Given the description of an element on the screen output the (x, y) to click on. 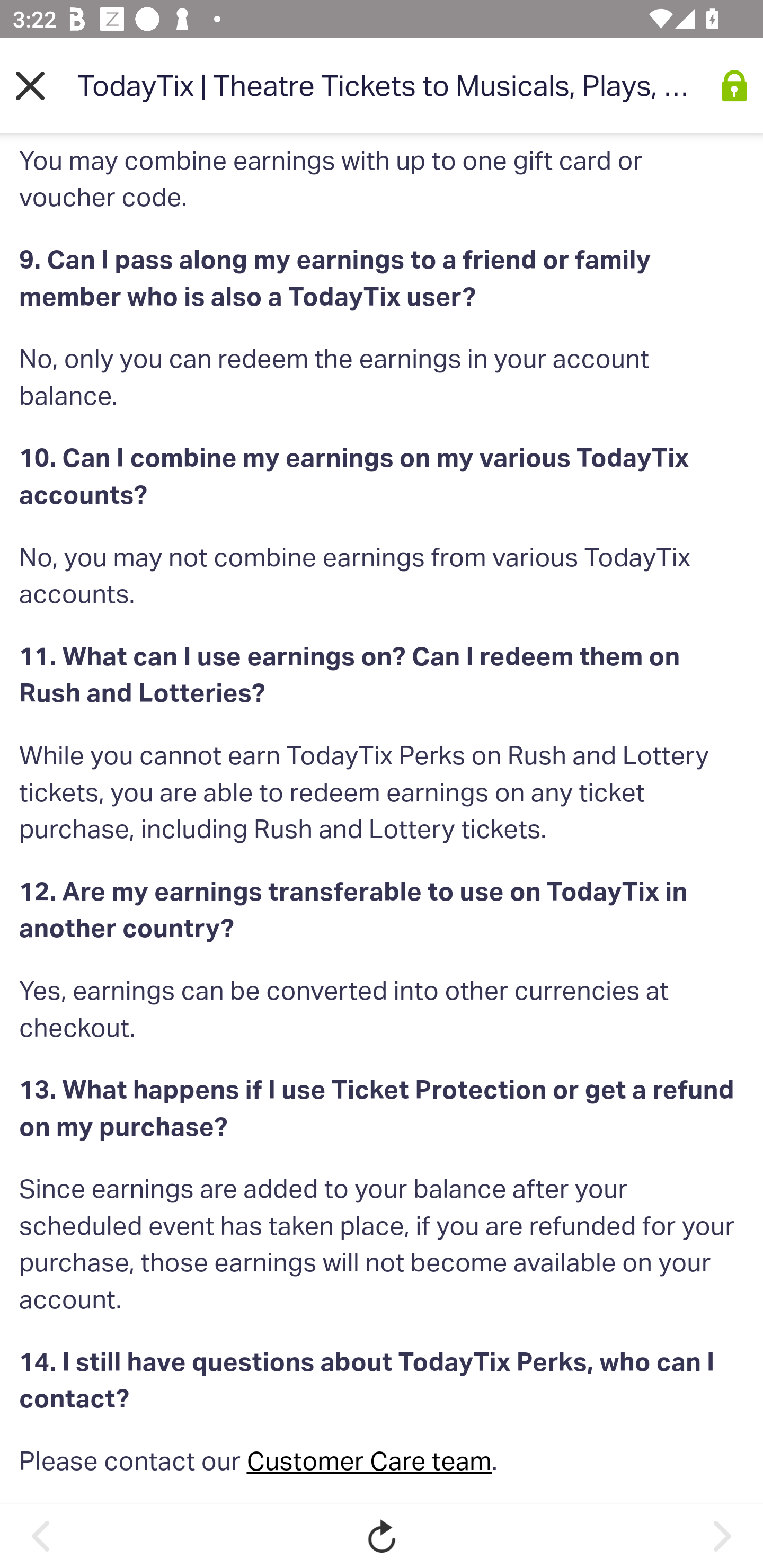
Customer Care team (369, 1462)
